Given the description of an element on the screen output the (x, y) to click on. 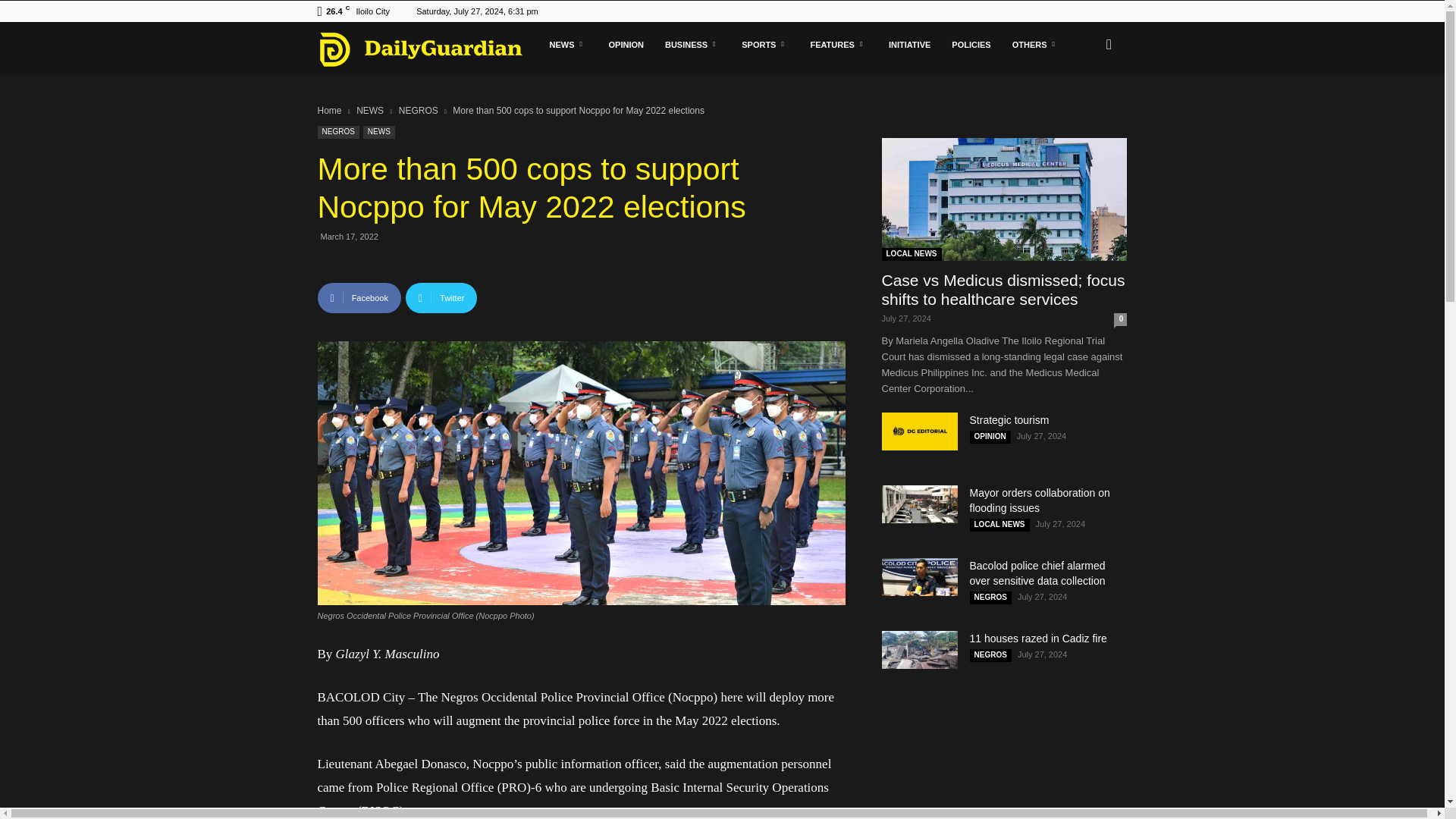
Twitter (1114, 11)
We write, you decide. (419, 48)
NEWS (567, 44)
Facebook (1090, 11)
Daily Guardian (427, 48)
